Given the description of an element on the screen output the (x, y) to click on. 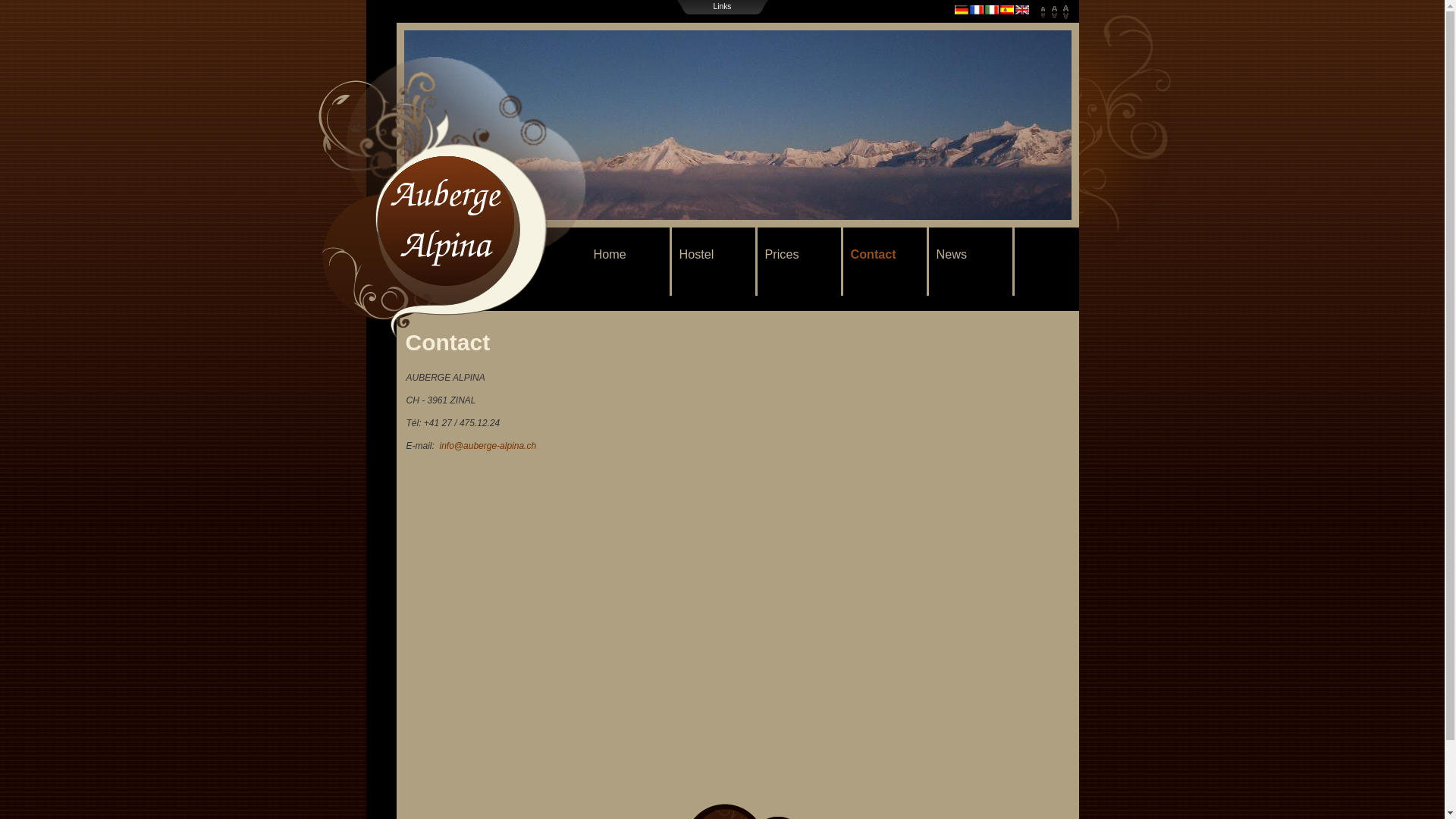
Hostel Element type: text (714, 261)
Italian - Italy Element type: hover (991, 9)
Increase font size Element type: hover (1065, 11)
info@auberge-alpina.ch Element type: text (487, 445)
Contact Element type: text (885, 261)
Deutsch (DE-CH-AT) Element type: hover (961, 9)
Prices Element type: text (799, 261)
English (United Kingdom) Element type: hover (1021, 9)
Previous slide Element type: hover (427, 124)
Default font size Element type: hover (1053, 11)
News Element type: text (970, 261)
French (Fr) Element type: hover (976, 9)
Decrease font size Element type: hover (1042, 11)
Home Element type: text (628, 261)
Next slide Element type: hover (1046, 124)
